Given the description of an element on the screen output the (x, y) to click on. 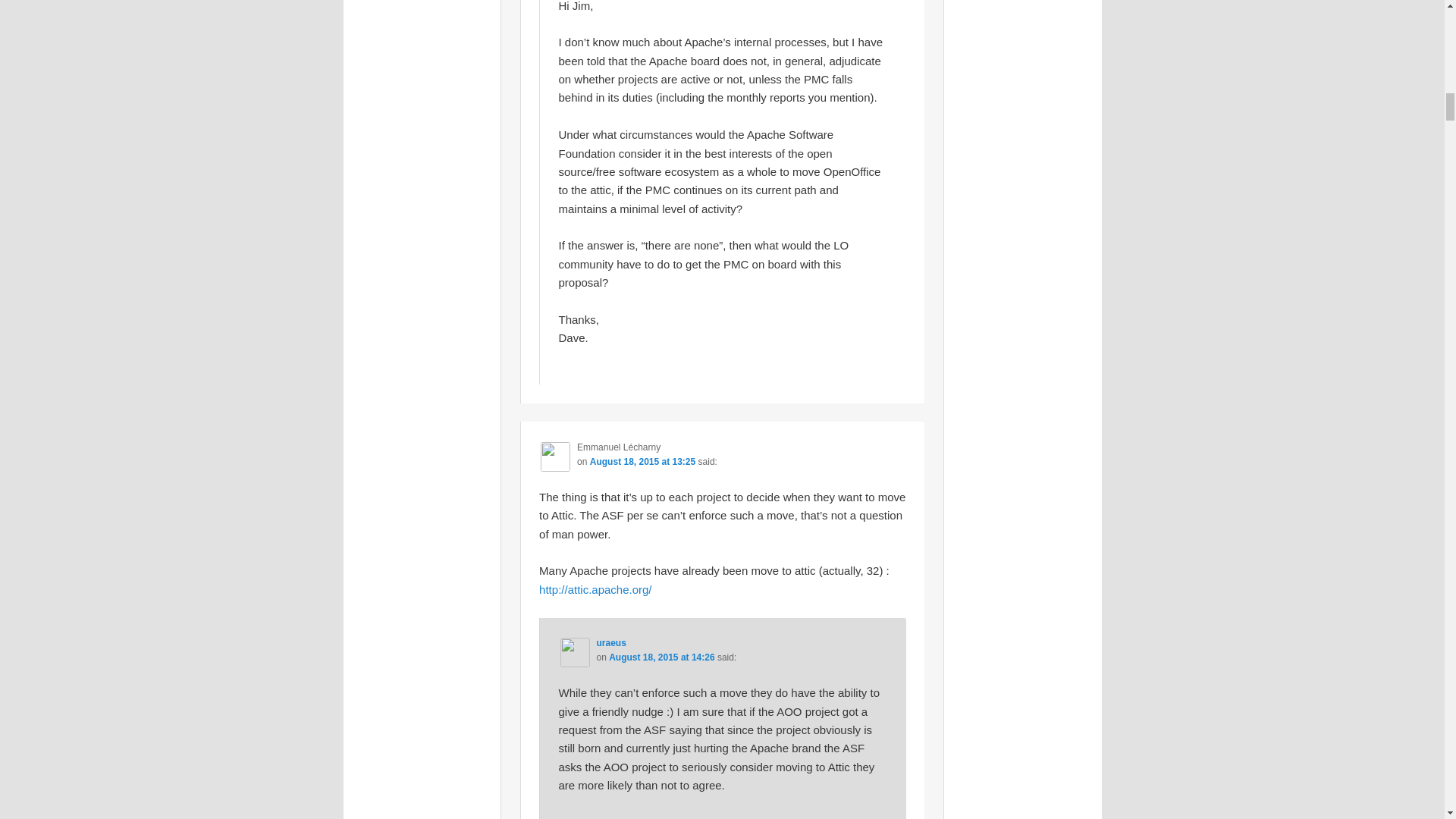
August 18, 2015 at 14:26 (661, 656)
uraeus (610, 643)
August 18, 2015 at 13:25 (642, 461)
